Given the description of an element on the screen output the (x, y) to click on. 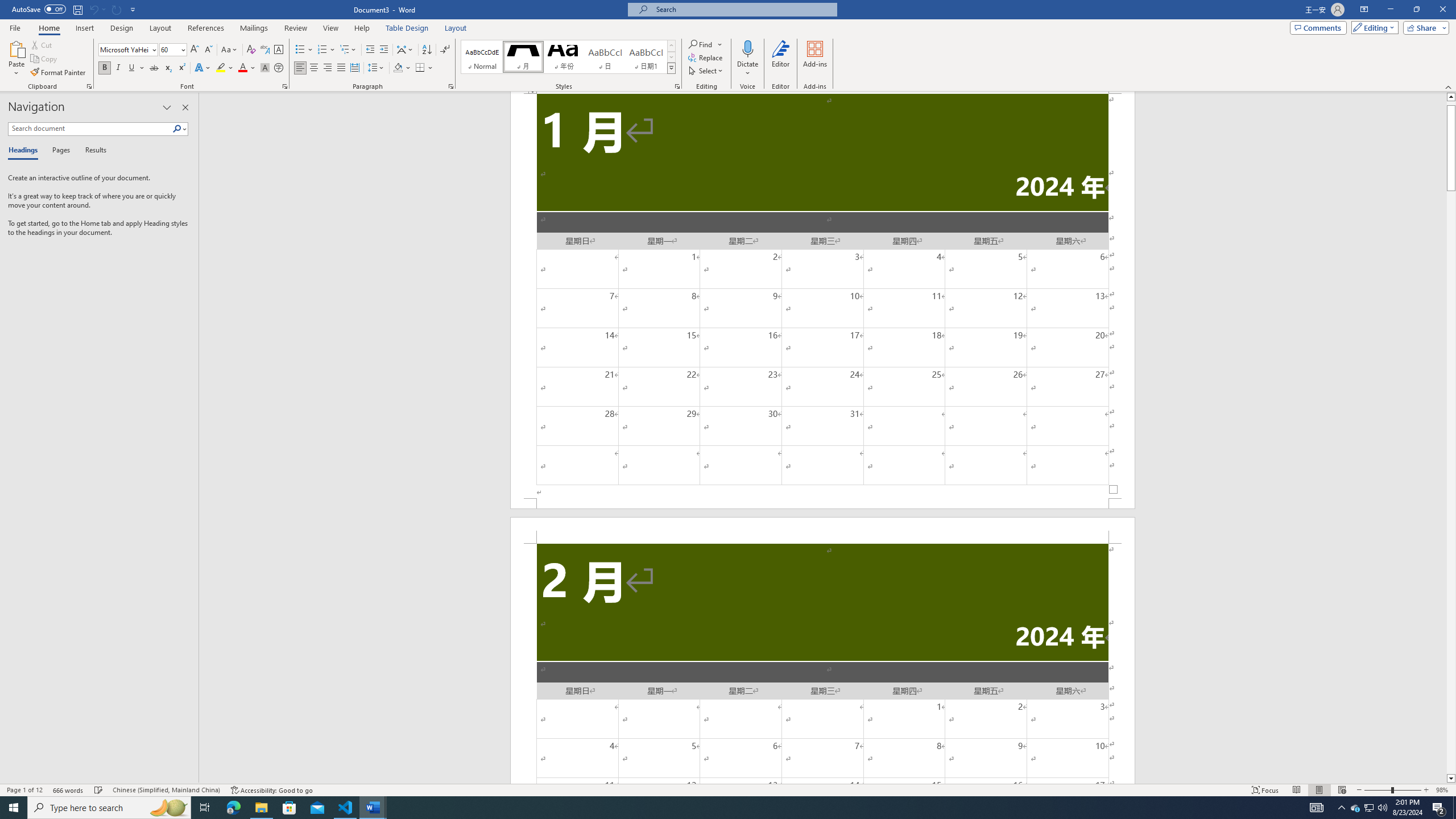
Page down (1450, 481)
